Given the description of an element on the screen output the (x, y) to click on. 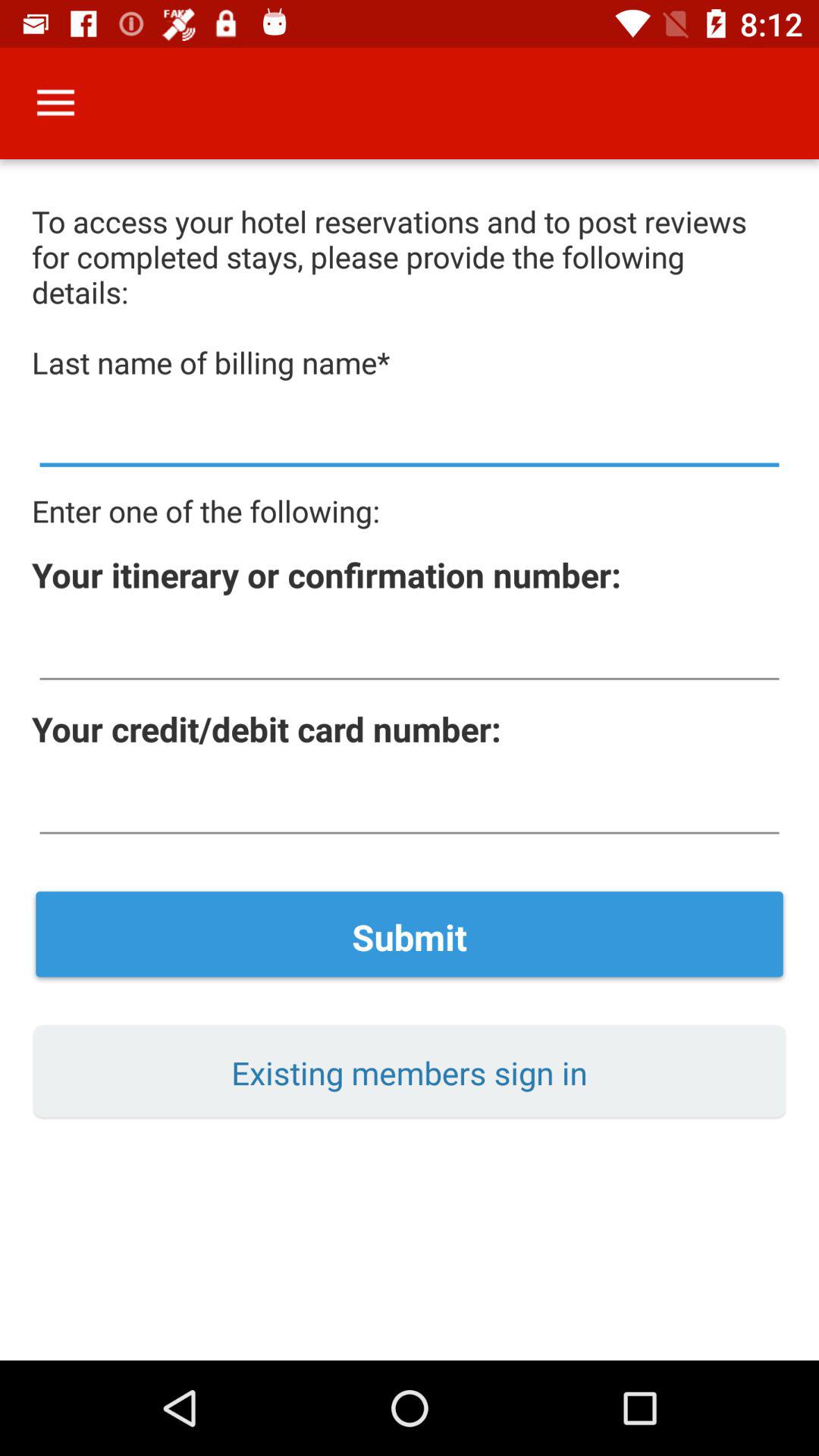
click the icon above existing members sign (409, 937)
